Given the description of an element on the screen output the (x, y) to click on. 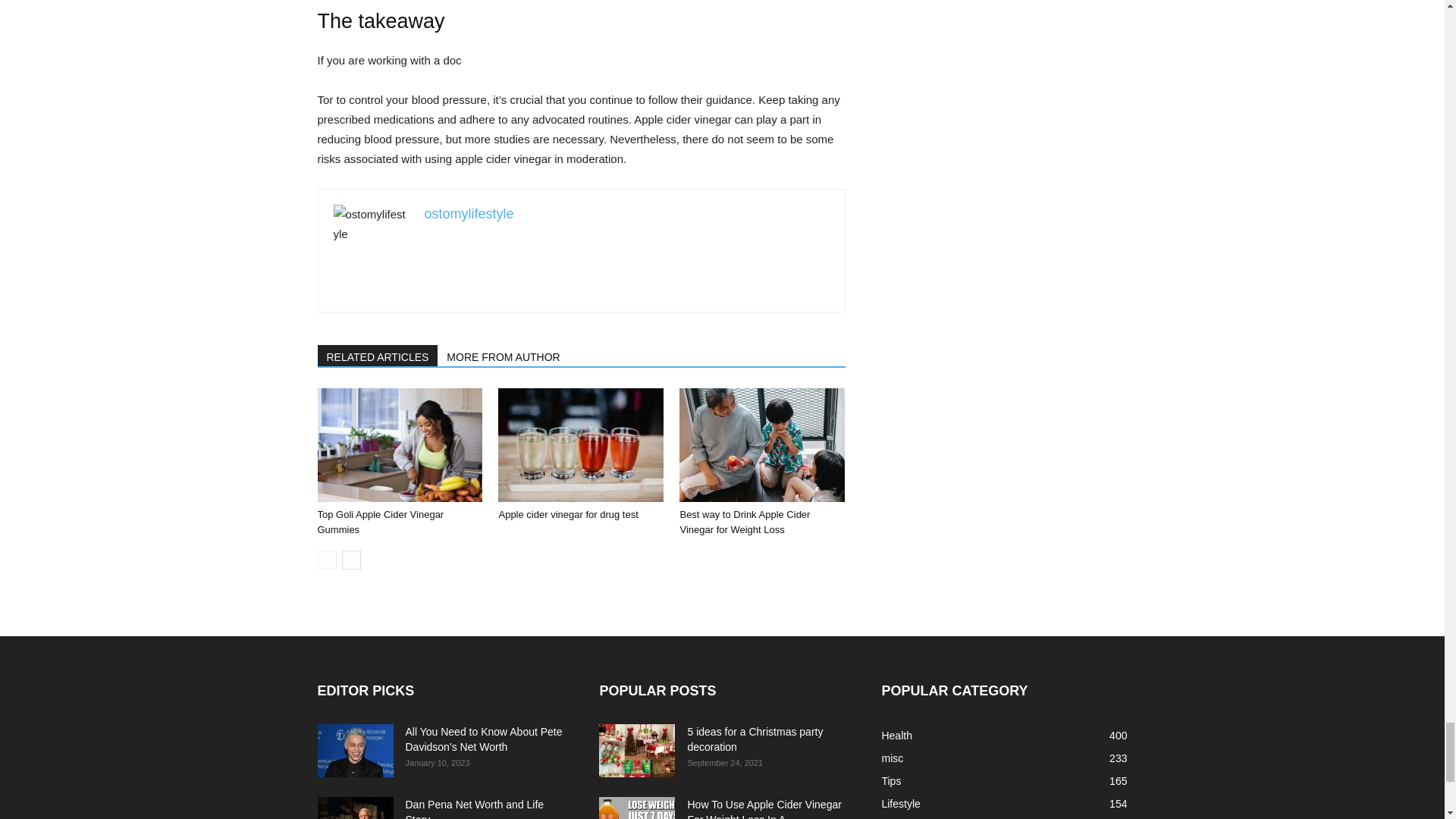
Apple cider vinegar for drug test (567, 514)
Best way to Drink Apple Cider Vinegar for Weight Loss (761, 445)
Best way to Drink Apple Cider Vinegar for Weight Loss (744, 521)
bottomFacebookLike (430, 332)
Top Goli Apple Cider Vinegar Gummies (399, 445)
Top Goli Apple Cider Vinegar Gummies (380, 521)
Apple cider vinegar for drug test (580, 445)
